Given the description of an element on the screen output the (x, y) to click on. 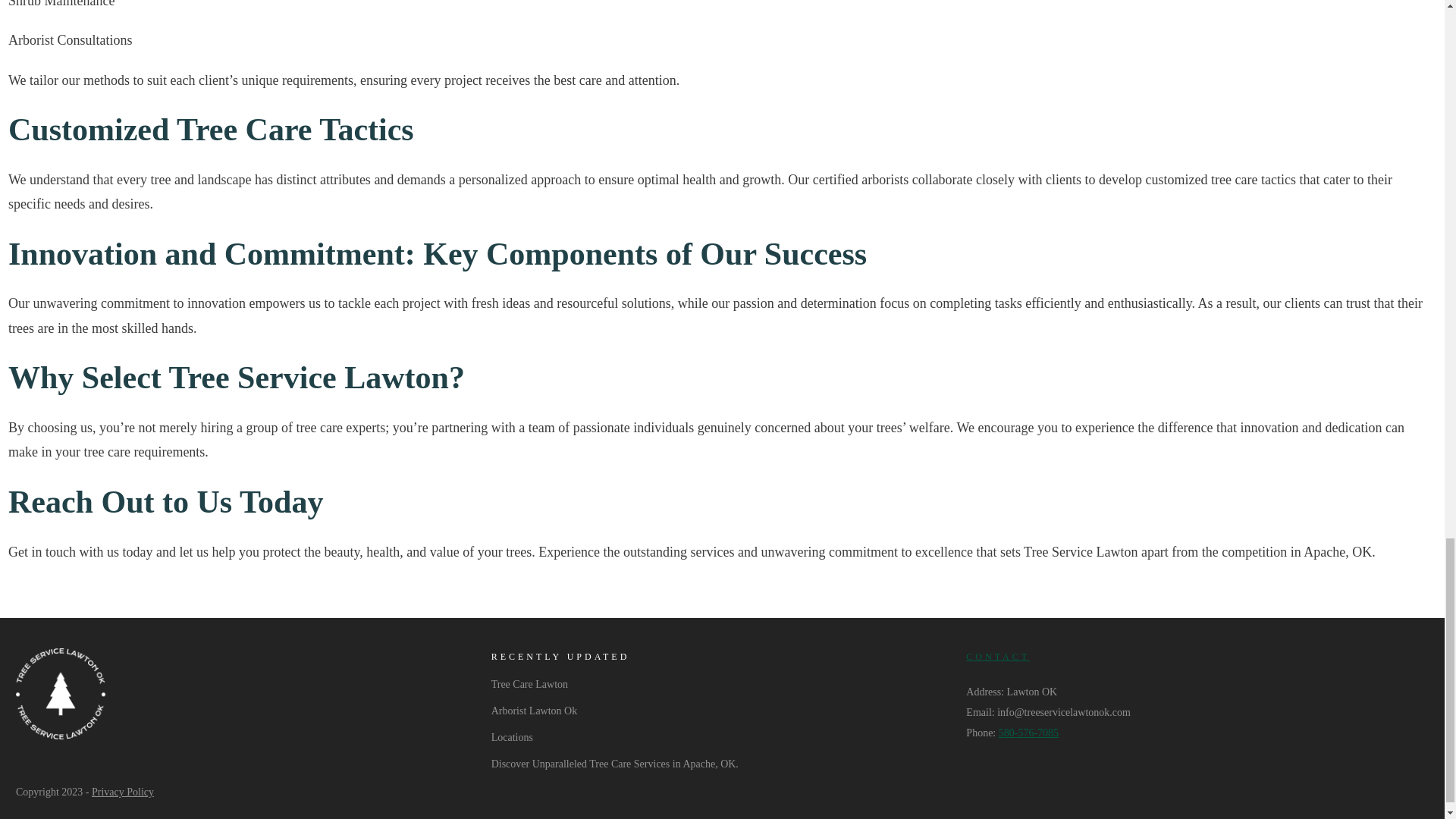
Privacy Policy (122, 791)
Discover Unparalleled Tree Care Services in Apache, OK. (615, 763)
Locations (512, 737)
Tree Care Lawton (529, 683)
CONTACT (997, 656)
580-576-7085 (1028, 732)
Arborist Lawton Ok (535, 710)
